Given the description of an element on the screen output the (x, y) to click on. 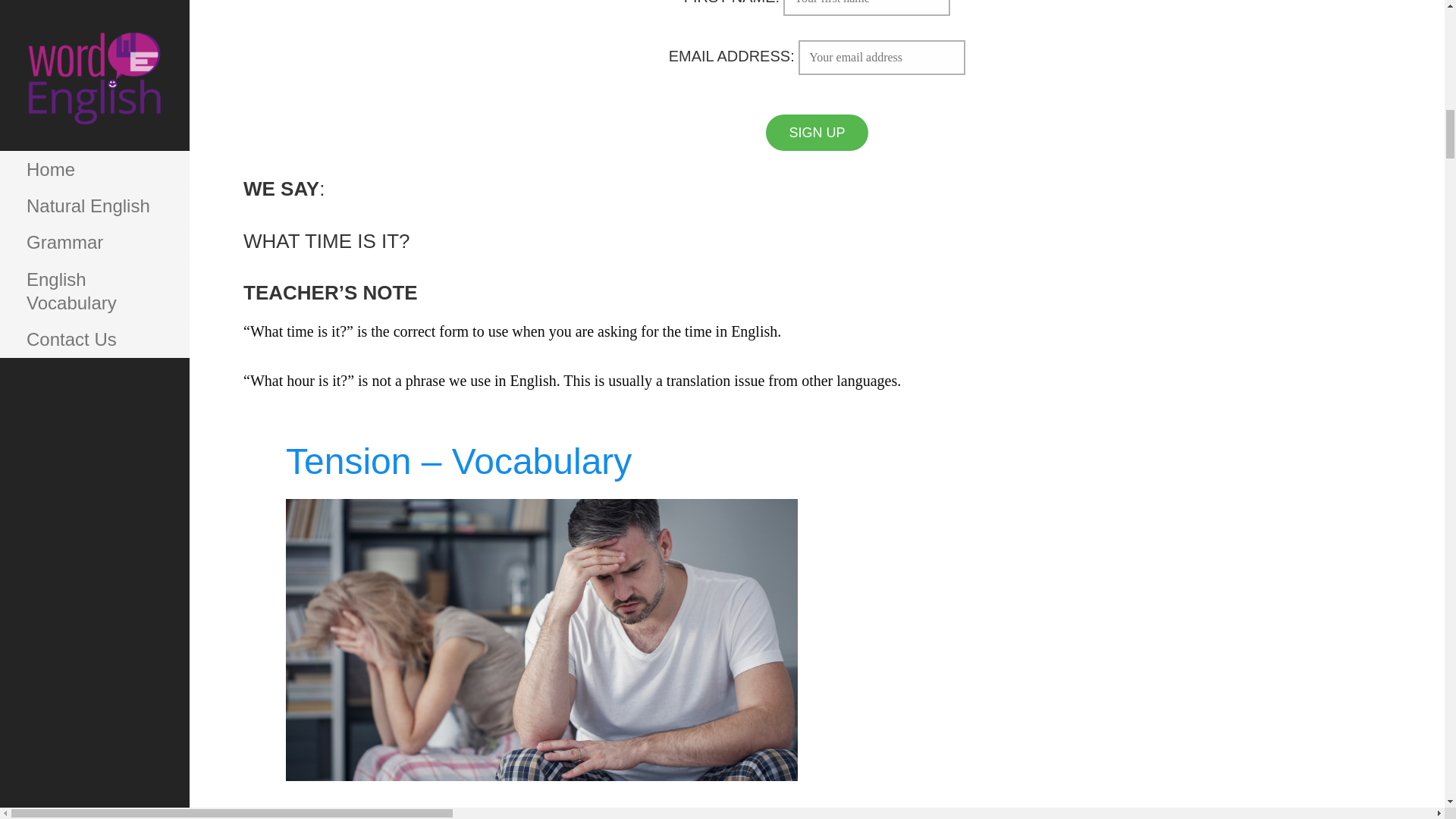
Sign up (816, 132)
Sign up (816, 132)
